Given the description of an element on the screen output the (x, y) to click on. 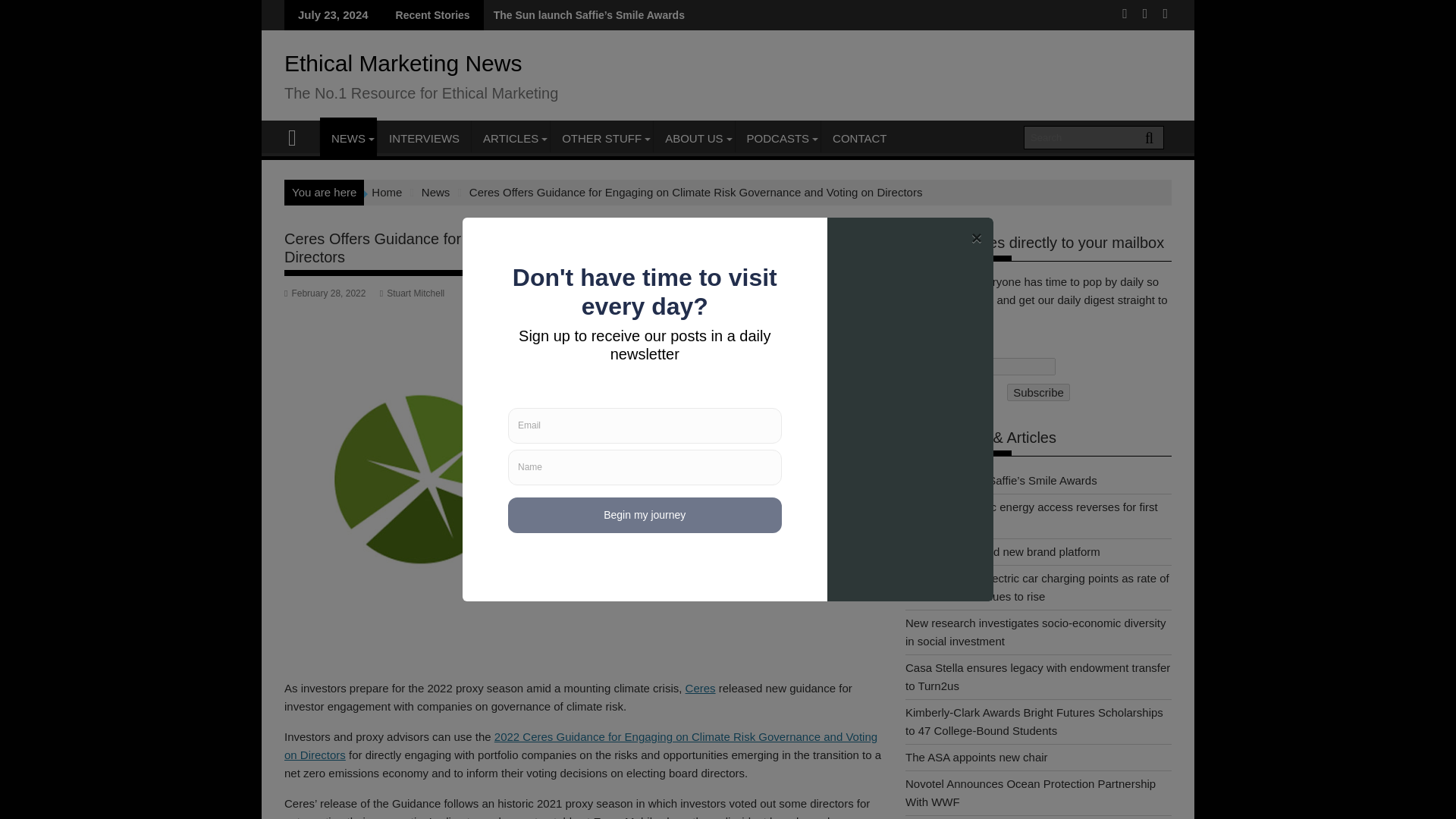
INTERVIEWS (423, 138)
ABOUT US (693, 138)
Subscribe (1038, 392)
CONTACT (859, 138)
OTHER STUFF (601, 138)
ARTICLES (510, 138)
NEWS (348, 138)
PODCASTS (778, 138)
Ethical Marketing News (298, 136)
Ethical Marketing News (402, 63)
